Given the description of an element on the screen output the (x, y) to click on. 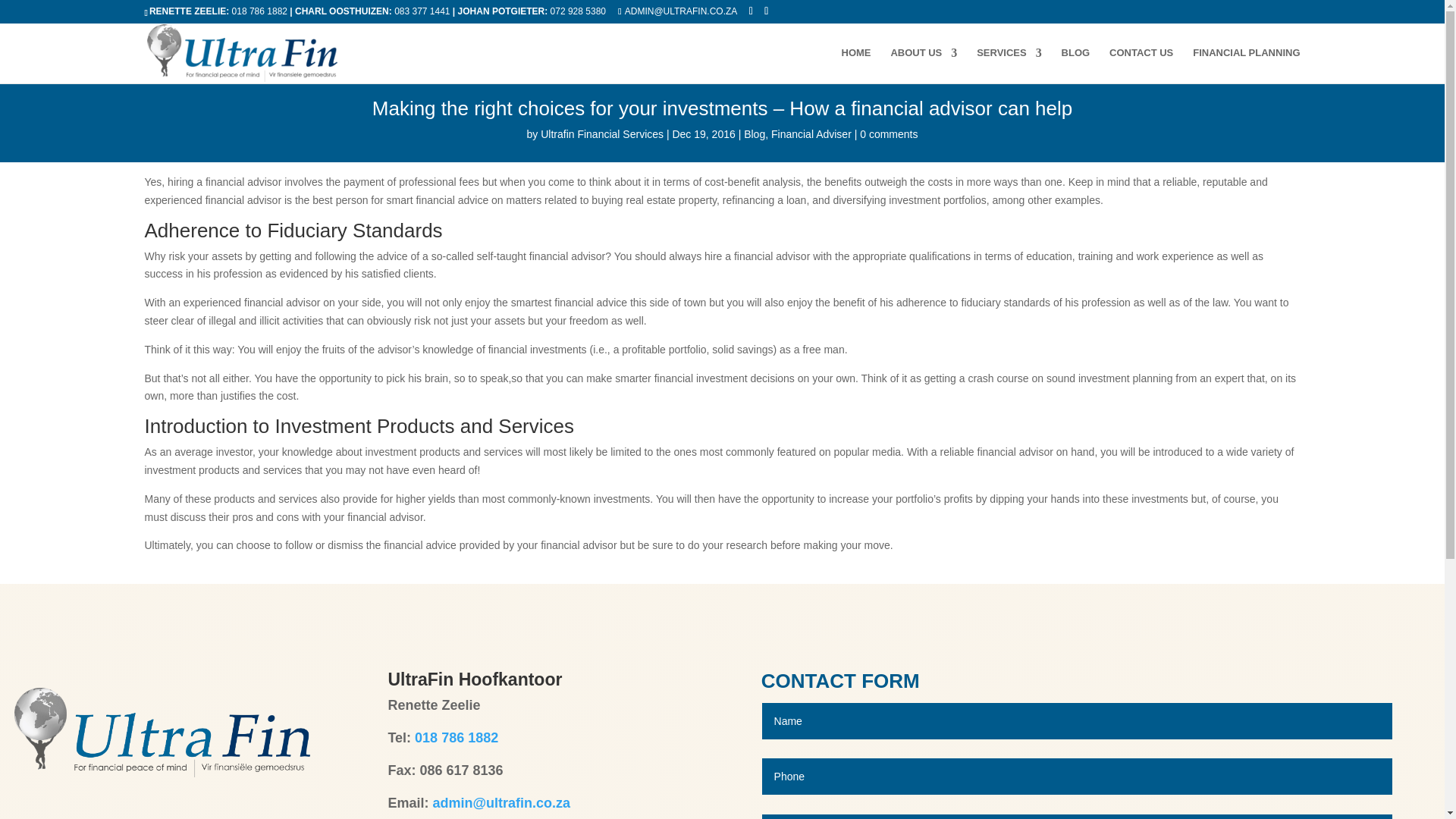
FINANCIAL PLANNING (1246, 65)
083 377 1441 (421, 10)
0 comments (888, 133)
CONTACT US (1141, 65)
018 786 1882 (455, 737)
Posts by Ultrafin Financial Services (601, 133)
Financial Adviser (811, 133)
018 786 1882 (258, 10)
SERVICES (1009, 65)
Only numbers allowed.Maximum length: 20 characters. (1076, 776)
Ultrafin Logo Large Scale Transparent (162, 732)
Ultrafin Financial Services (601, 133)
072 928 5380 (577, 10)
Blog (754, 133)
ABOUT US (922, 65)
